Given the description of an element on the screen output the (x, y) to click on. 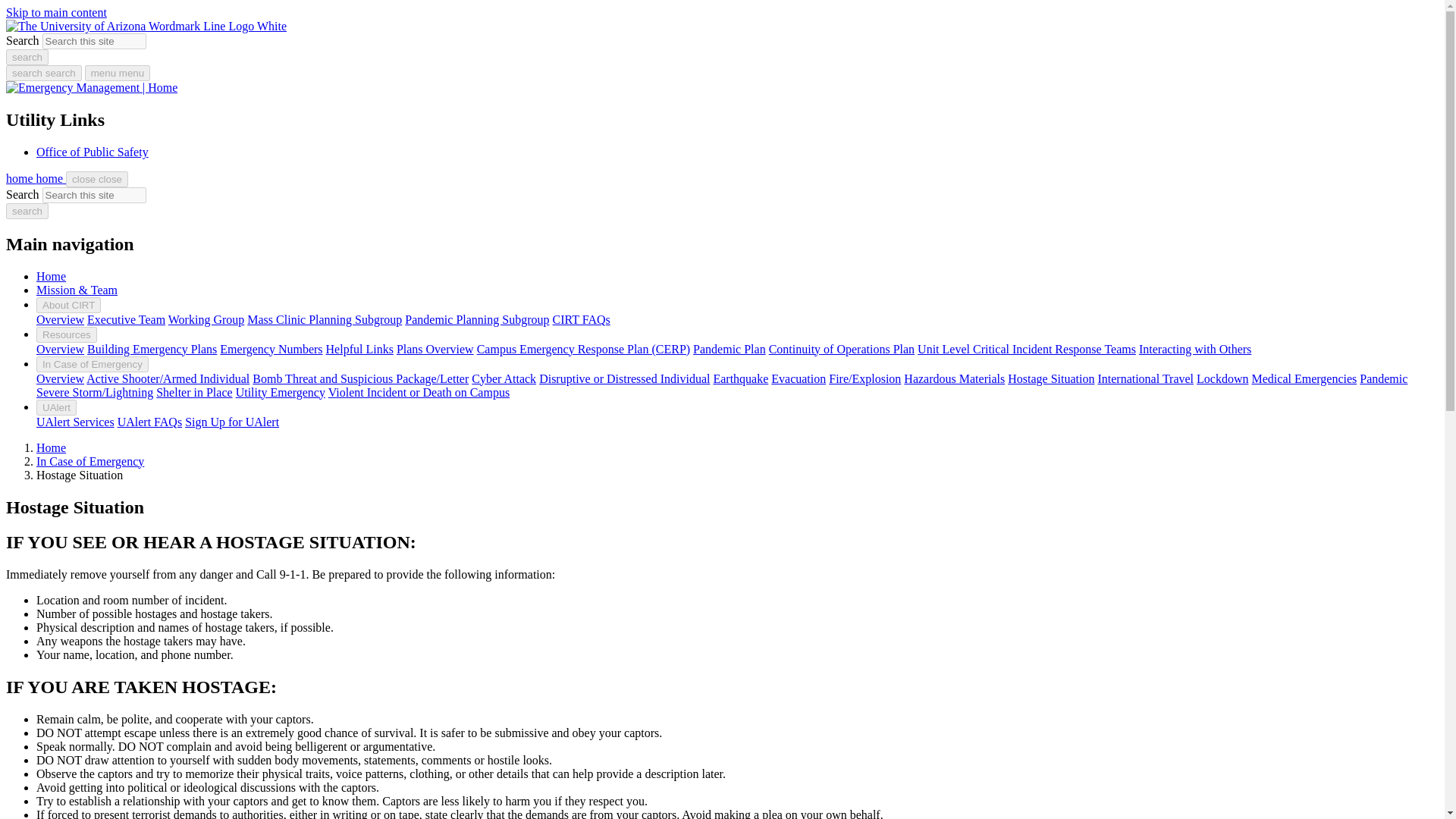
Skip to main content (55, 11)
Disruptive or Distressed Individual (624, 378)
Cyber Attack (503, 378)
Overview (60, 318)
Unit Level Critical Incident Response Teams (1026, 349)
Evacuation (798, 378)
menu menu (116, 73)
Pandemic Planning Subgroup (476, 318)
Enter the terms you wish to search for. (94, 41)
Working Group (206, 318)
